Given the description of an element on the screen output the (x, y) to click on. 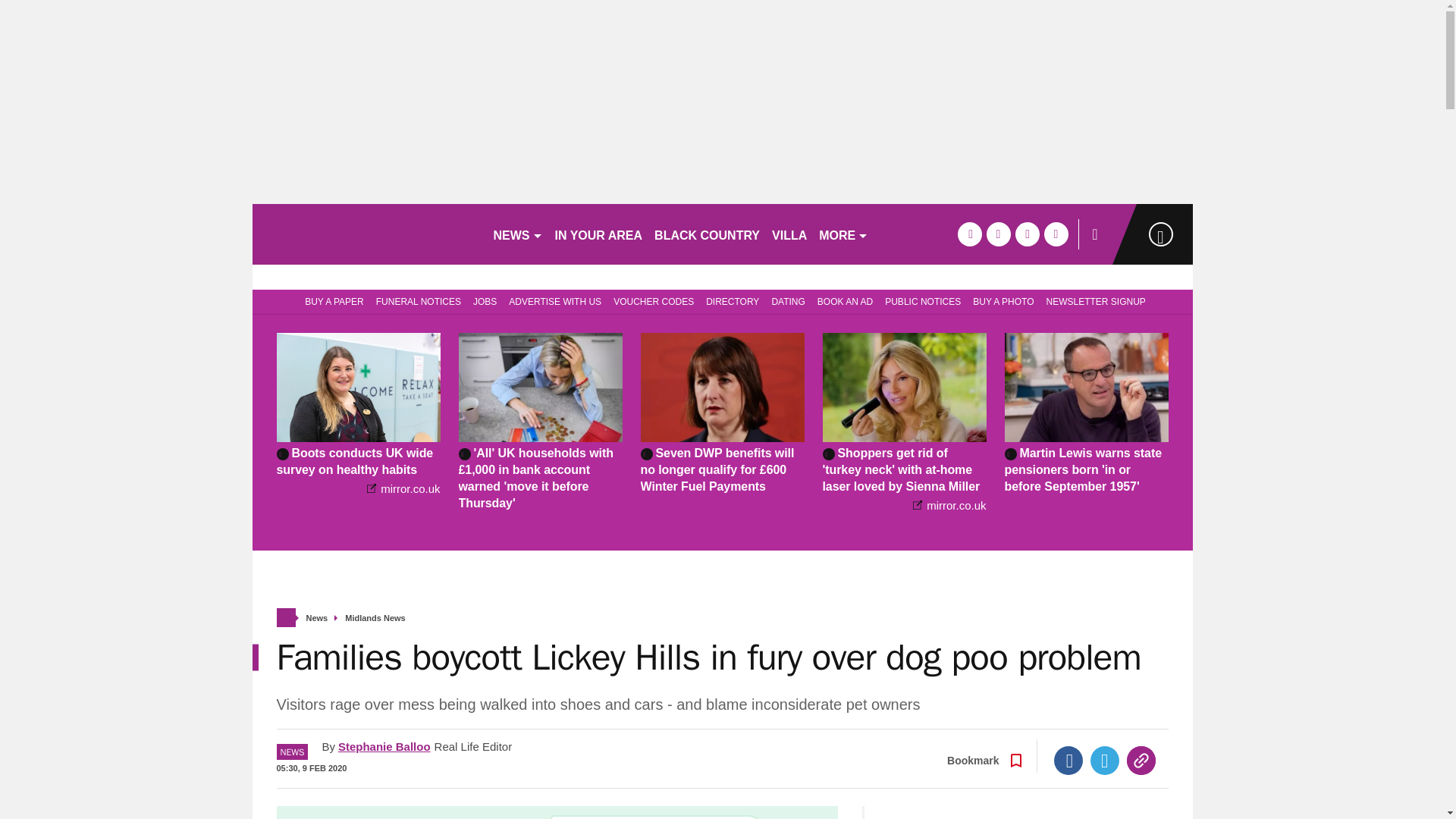
Twitter (1104, 760)
MORE (843, 233)
instagram (1055, 233)
birminghammail (365, 233)
IN YOUR AREA (598, 233)
NEWS (517, 233)
BLACK COUNTRY (706, 233)
twitter (997, 233)
facebook (968, 233)
Facebook (1068, 760)
tiktok (1026, 233)
